Given the description of an element on the screen output the (x, y) to click on. 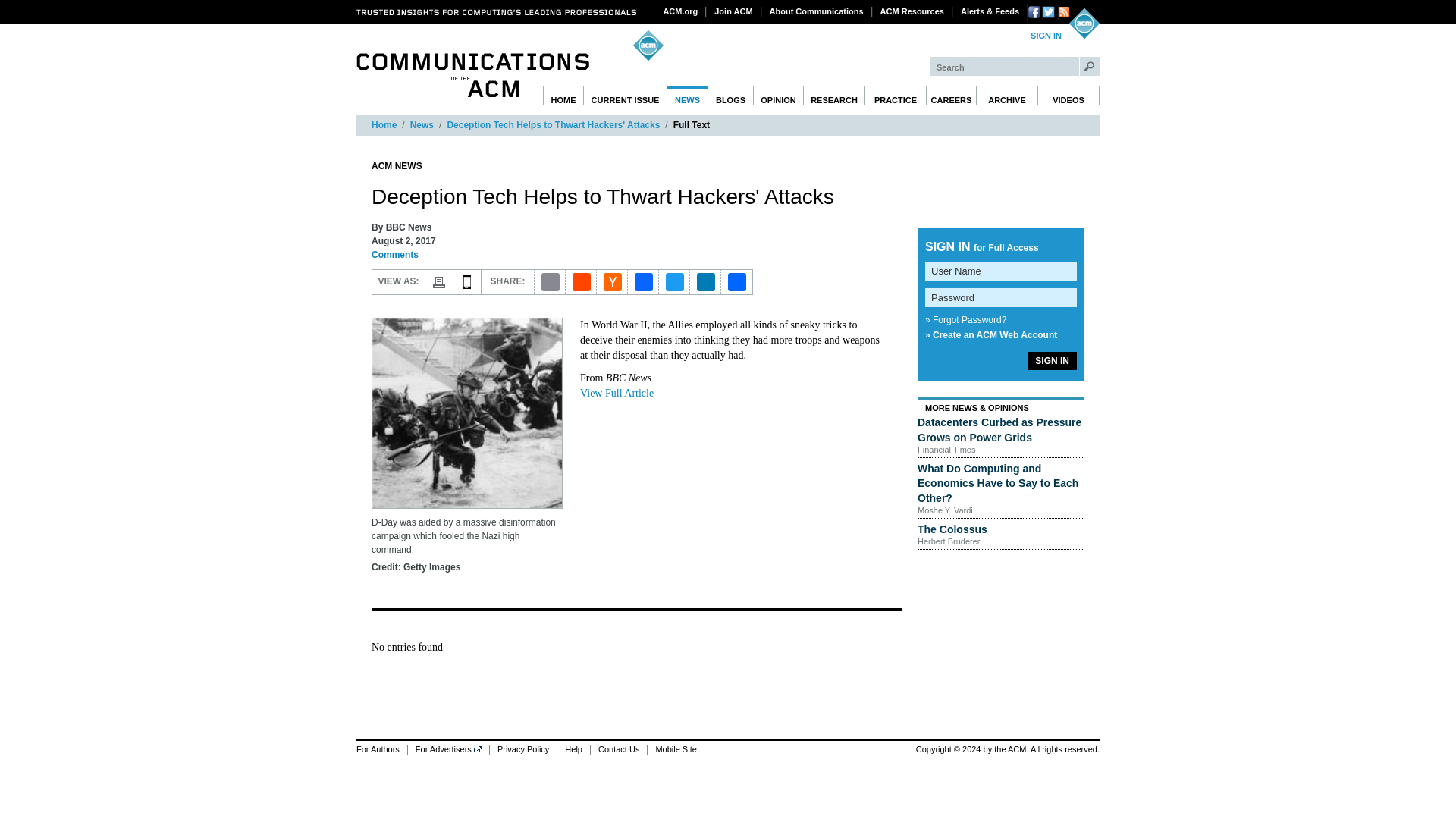
MOBILE APPS (466, 282)
Communications of the ACM (472, 75)
ACM (1083, 23)
About Communications (816, 11)
Contact Us (617, 749)
RESEARCH (833, 94)
For Advertisers (448, 749)
ACM.org (680, 11)
HOME (563, 94)
Help (572, 749)
CURRENT ISSUE (624, 94)
SIGN IN (1045, 35)
Join ACM (733, 11)
For Authors (381, 749)
Go (1089, 66)
